Given the description of an element on the screen output the (x, y) to click on. 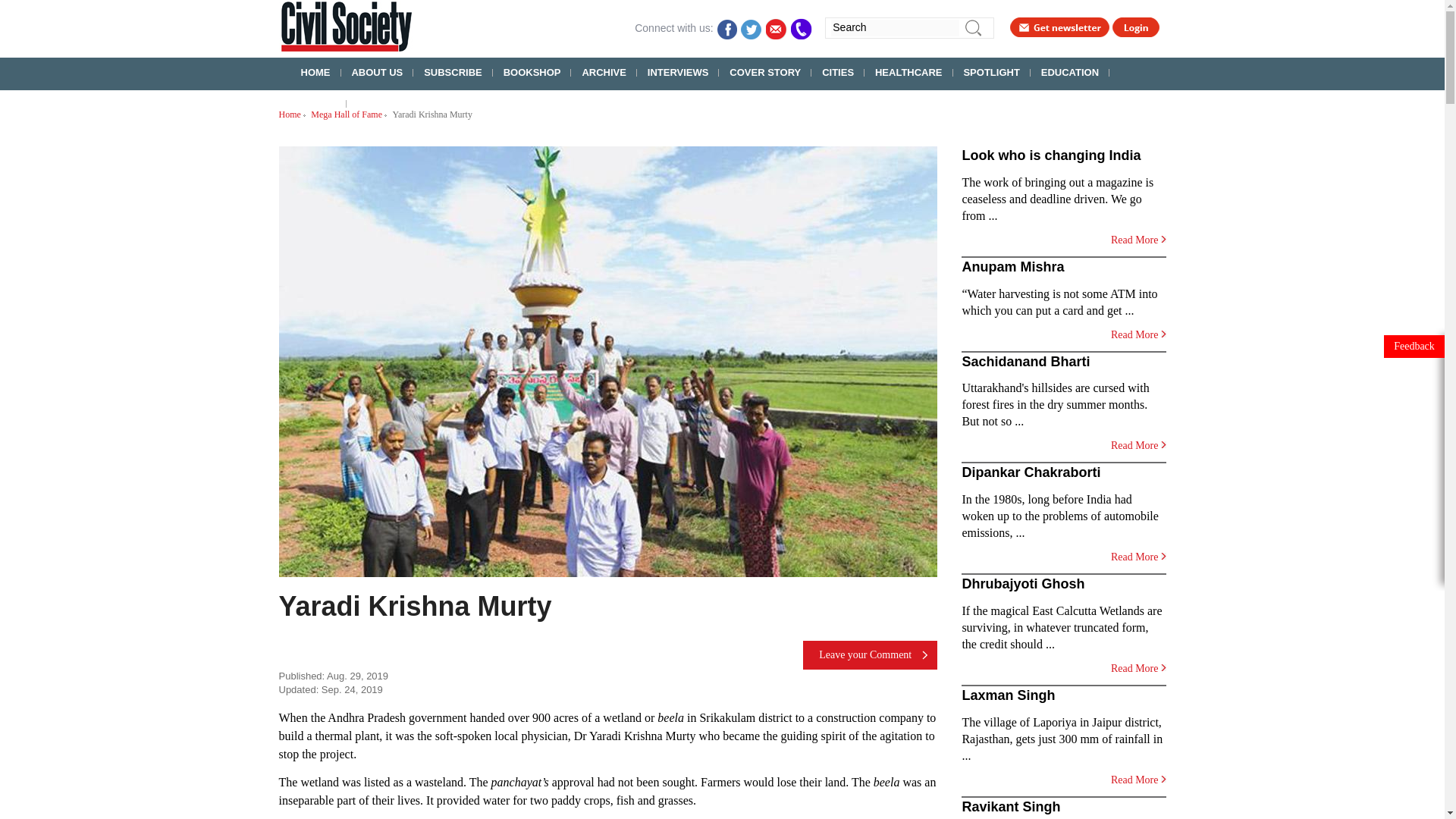
twitter (751, 28)
call (801, 28)
email (776, 28)
facebook (727, 28)
Leave your Comment (870, 654)
